Given the description of an element on the screen output the (x, y) to click on. 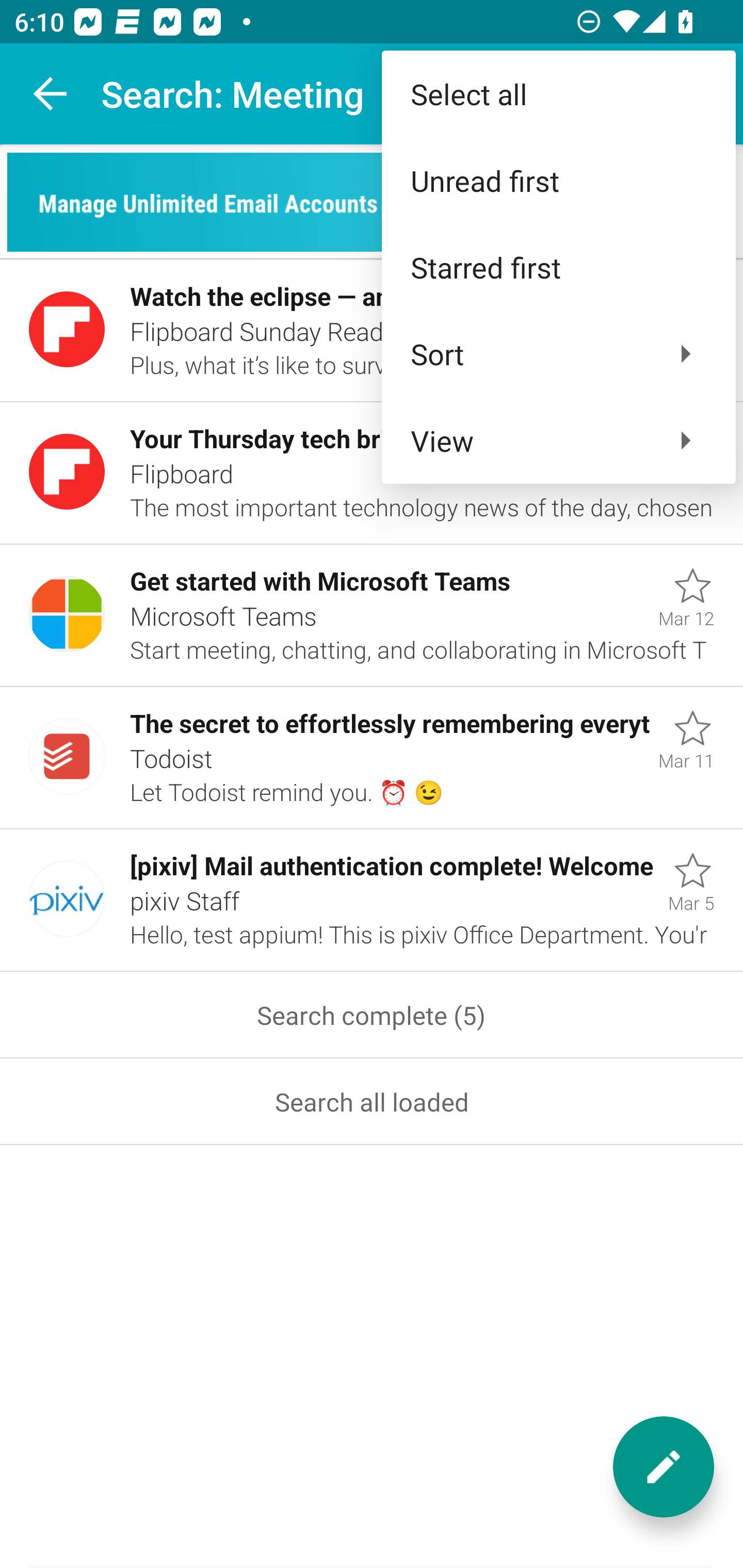
Select all (558, 93)
Unread first (558, 180)
Starred first (558, 267)
Sort (558, 353)
View (558, 440)
